Given the description of an element on the screen output the (x, y) to click on. 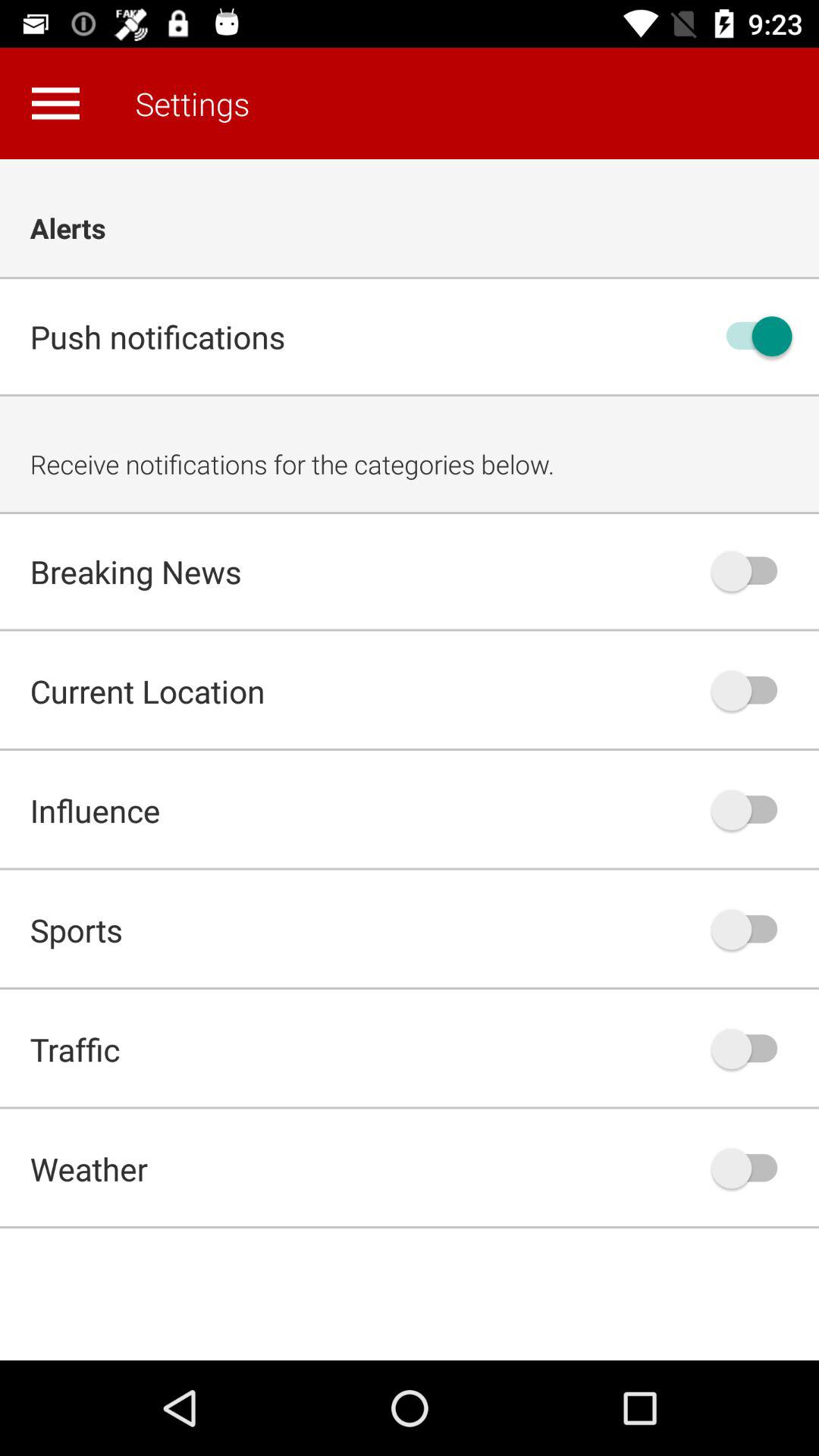
push the on button (751, 690)
